Given the description of an element on the screen output the (x, y) to click on. 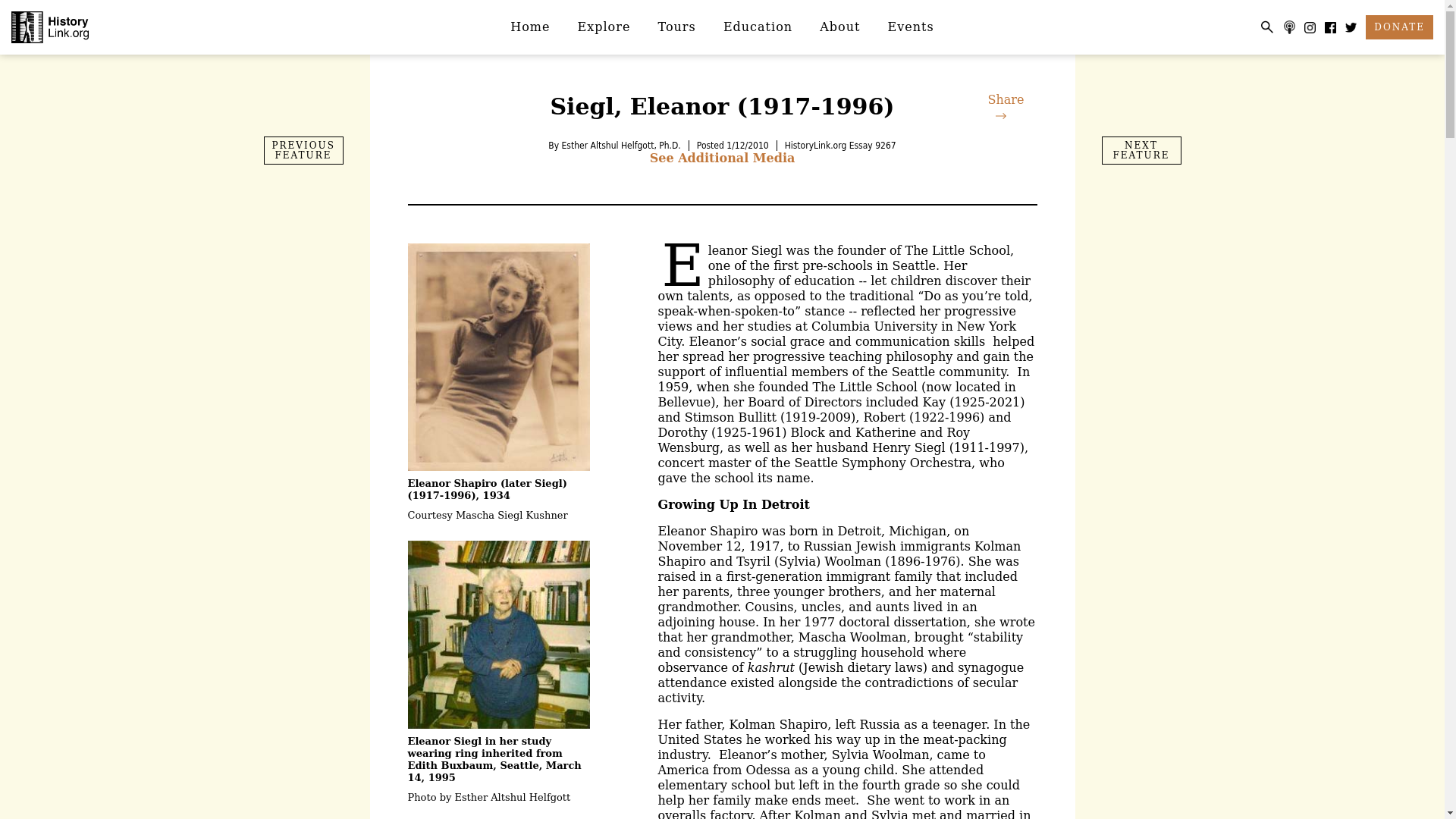
Events (911, 26)
Previous File (303, 150)
Explore (604, 26)
NEXT FEATURE (1140, 150)
DONATE (1398, 27)
Education (758, 26)
About (839, 26)
Home (529, 26)
Next File (1140, 150)
Tours (677, 26)
